Given the description of an element on the screen output the (x, y) to click on. 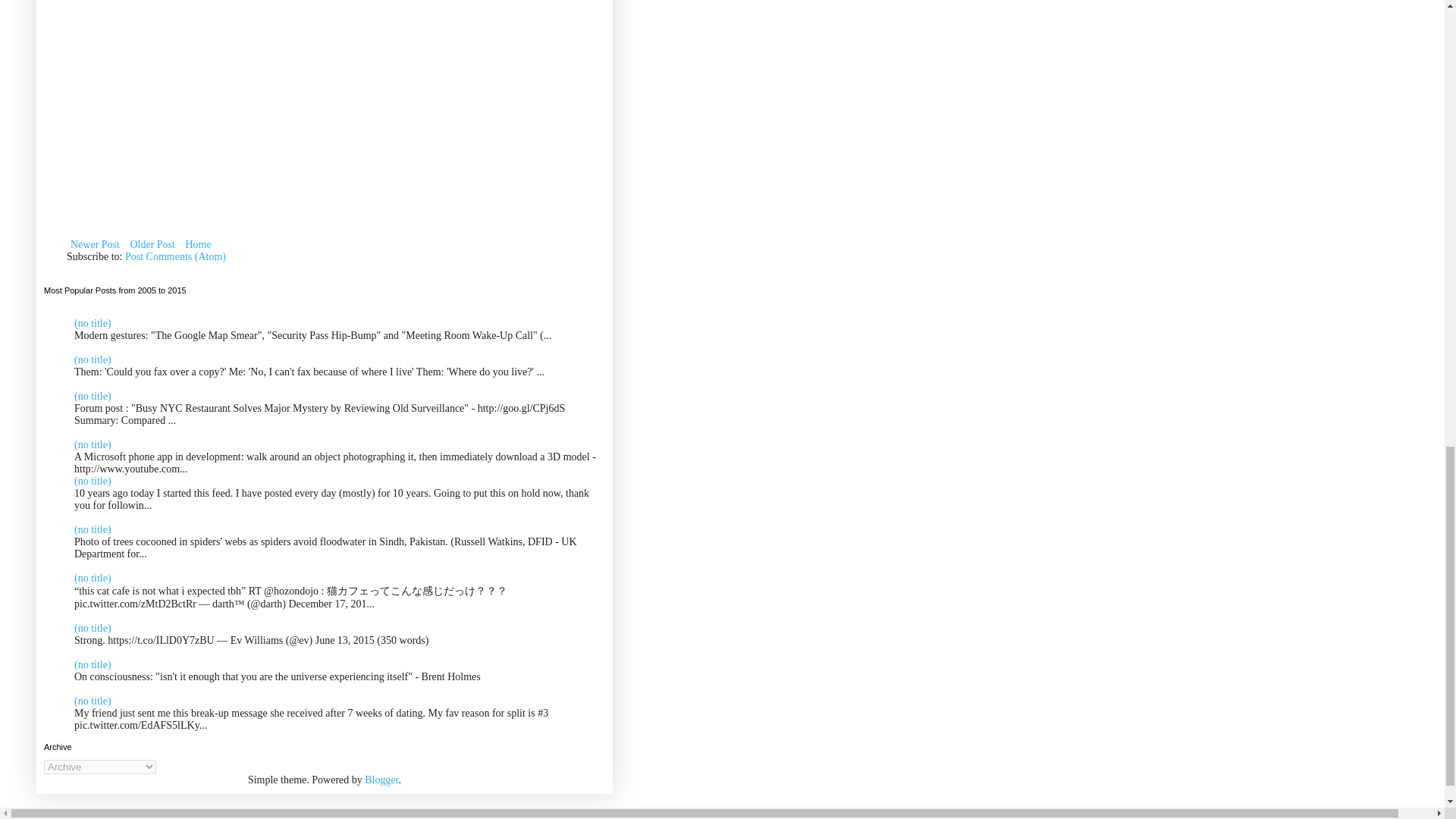
Home (197, 244)
Older Post (152, 244)
Newer Post (94, 244)
Newer Post (94, 244)
Older Post (152, 244)
